Given the description of an element on the screen output the (x, y) to click on. 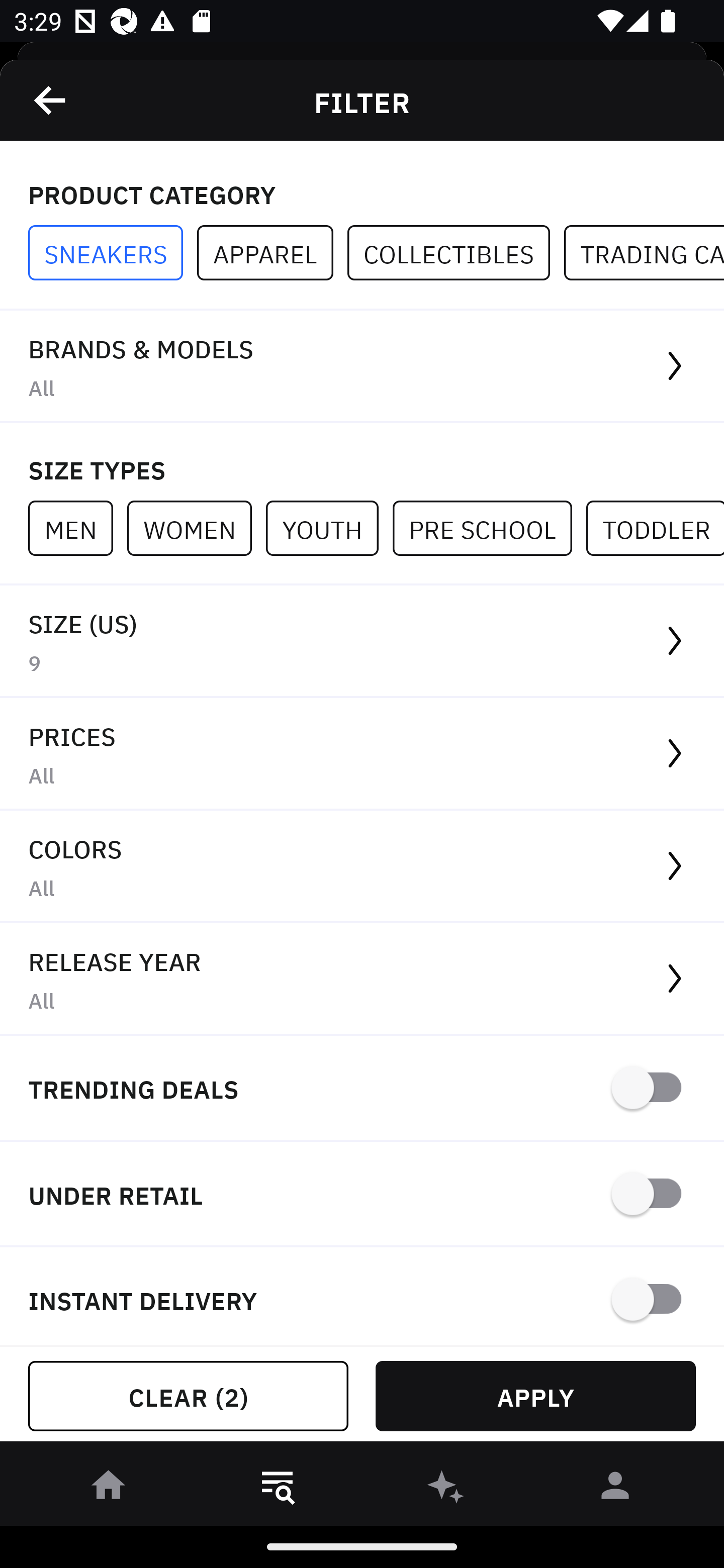
 (50, 100)
SNEAKERS (112, 252)
APPAREL (271, 252)
COLLECTIBLES (455, 252)
TRADING CARDS (643, 252)
BRANDS & MODELS All (362, 366)
MEN (77, 527)
WOMEN (196, 527)
YOUTH (328, 527)
PRE SCHOOL (489, 527)
TODDLER (655, 527)
SIZE (US) 9 (362, 640)
PRICES All (362, 753)
COLORS All (362, 866)
RELEASE YEAR All (362, 979)
TRENDING DEALS (362, 1088)
UNDER RETAIL (362, 1194)
INSTANT DELIVERY (362, 1296)
CLEAR (2) (188, 1396)
APPLY (535, 1396)
󰋜 (108, 1488)
󱎸 (277, 1488)
󰫢 (446, 1488)
󰀄 (615, 1488)
